Given the description of an element on the screen output the (x, y) to click on. 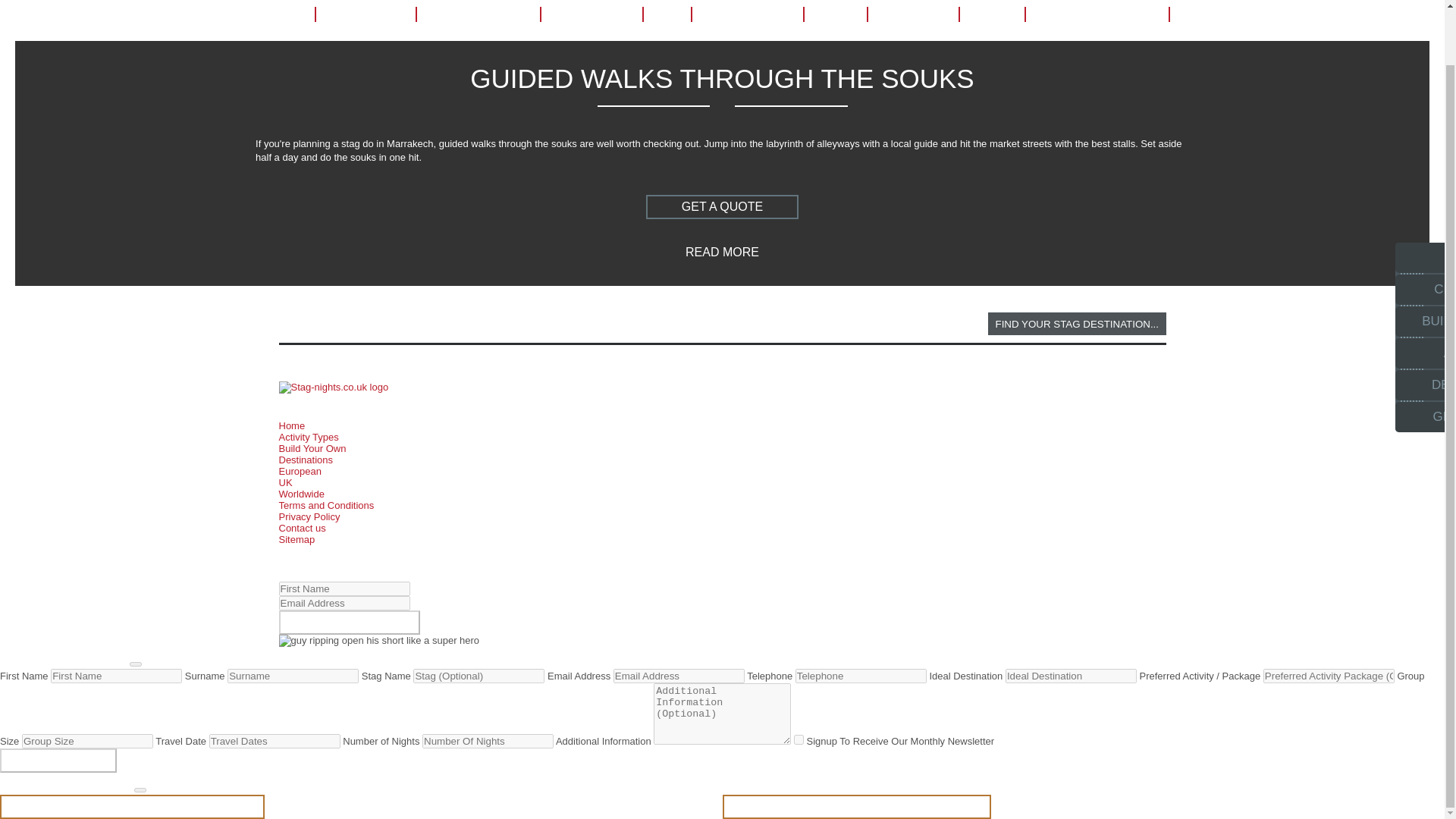
EUROPEAN (591, 14)
HOME (280, 14)
1 (798, 739)
ACTIVITIES (364, 14)
DESTINATIONS (477, 14)
